Given the description of an element on the screen output the (x, y) to click on. 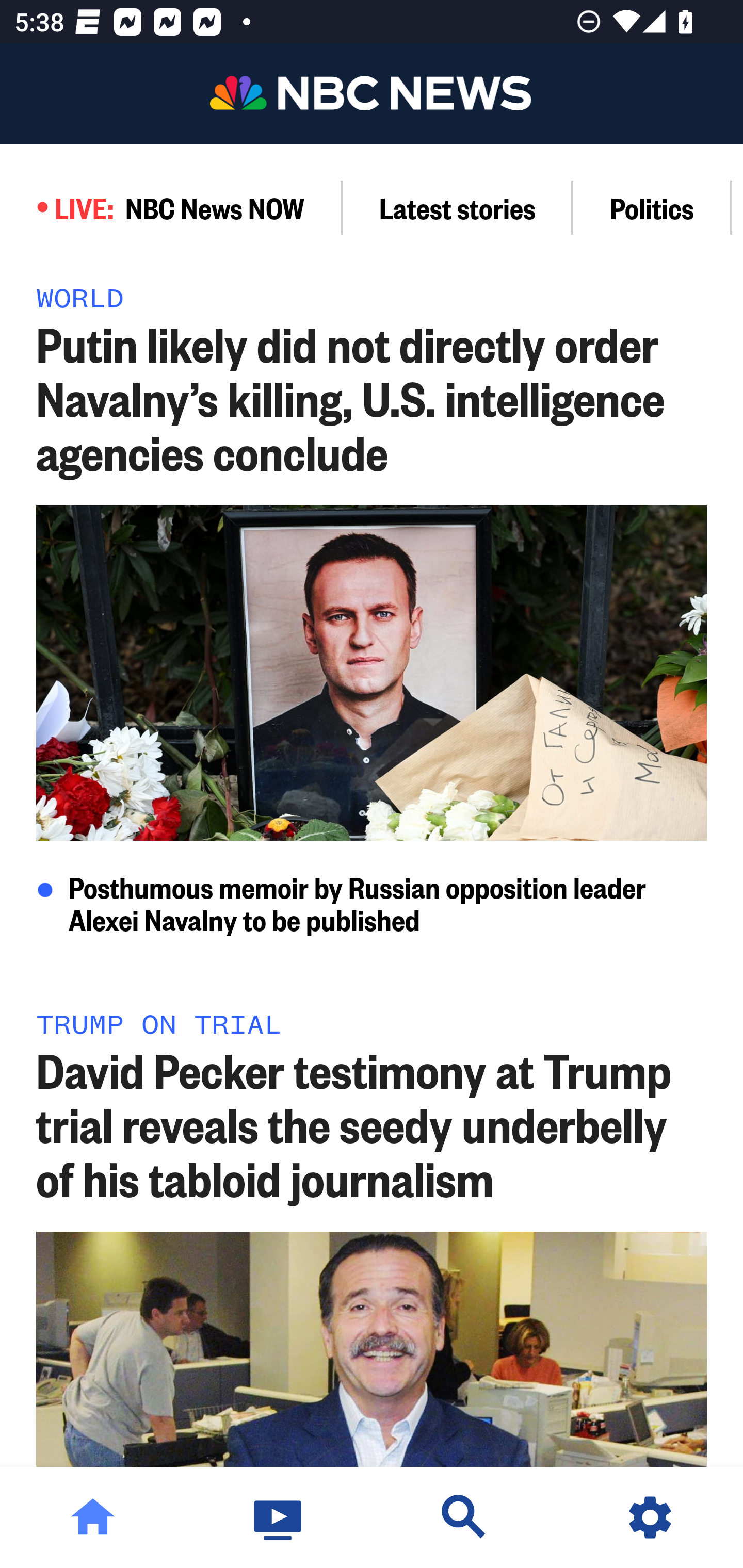
LIVE:  NBC News NOW (171, 207)
Latest stories Section,Latest stories (457, 207)
Politics Section,Politics (652, 207)
Watch (278, 1517)
Discover (464, 1517)
Settings (650, 1517)
